Given the description of an element on the screen output the (x, y) to click on. 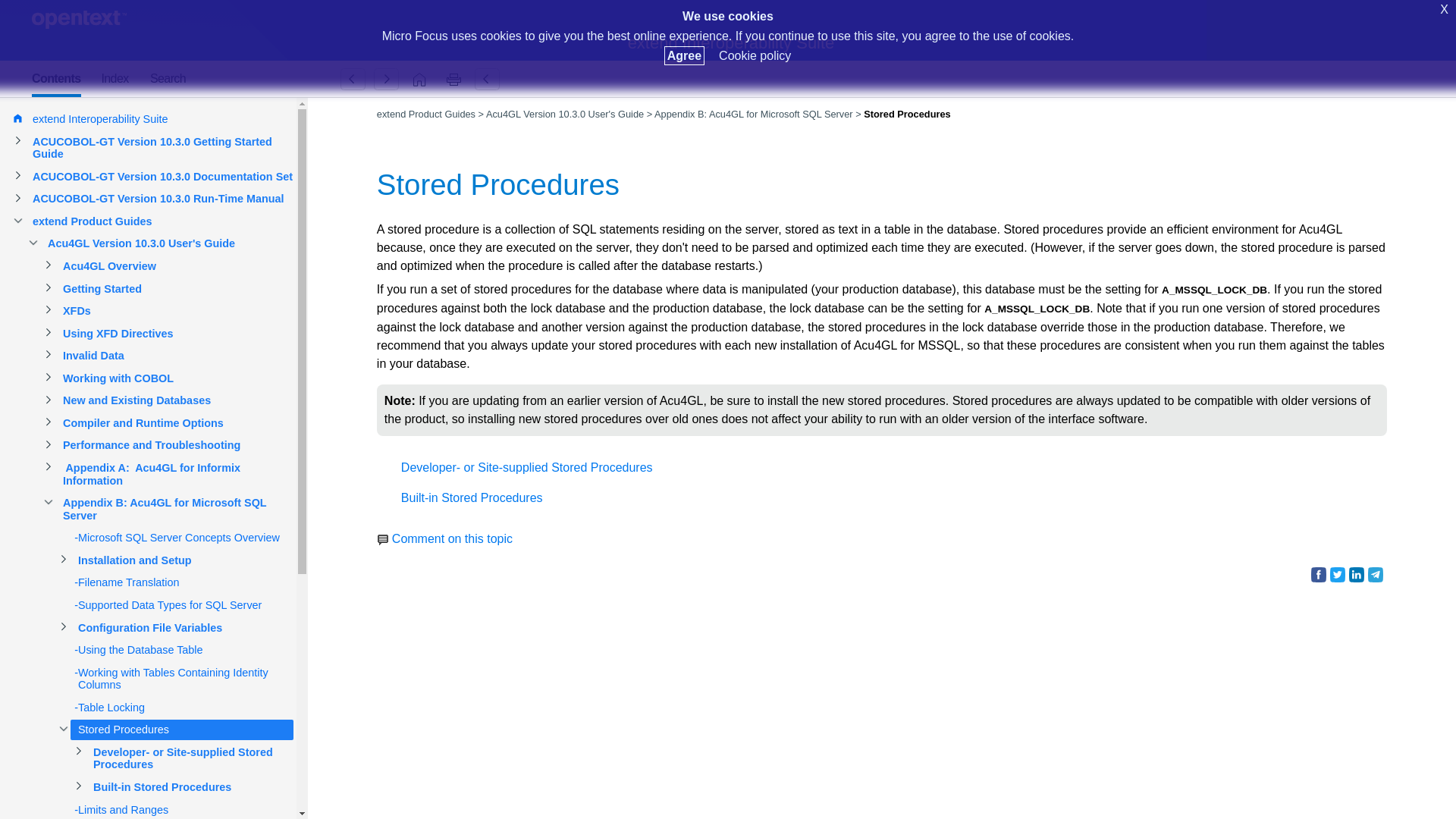
Table Locking (352, 78)
Developer- or Site-supplied Stored Procedures (386, 78)
Agree (684, 55)
Cookie policy (754, 55)
